Given the description of an element on the screen output the (x, y) to click on. 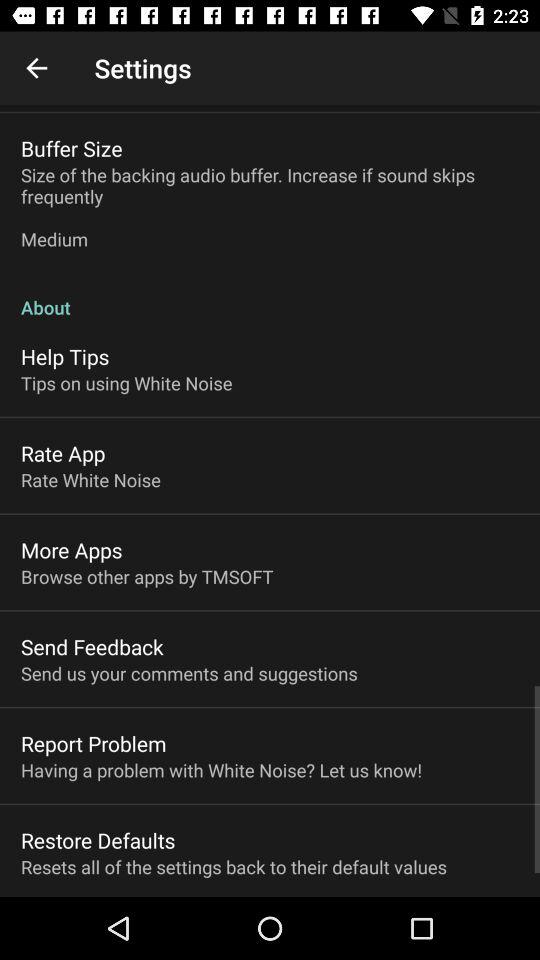
swipe until the send feedback item (92, 646)
